Given the description of an element on the screen output the (x, y) to click on. 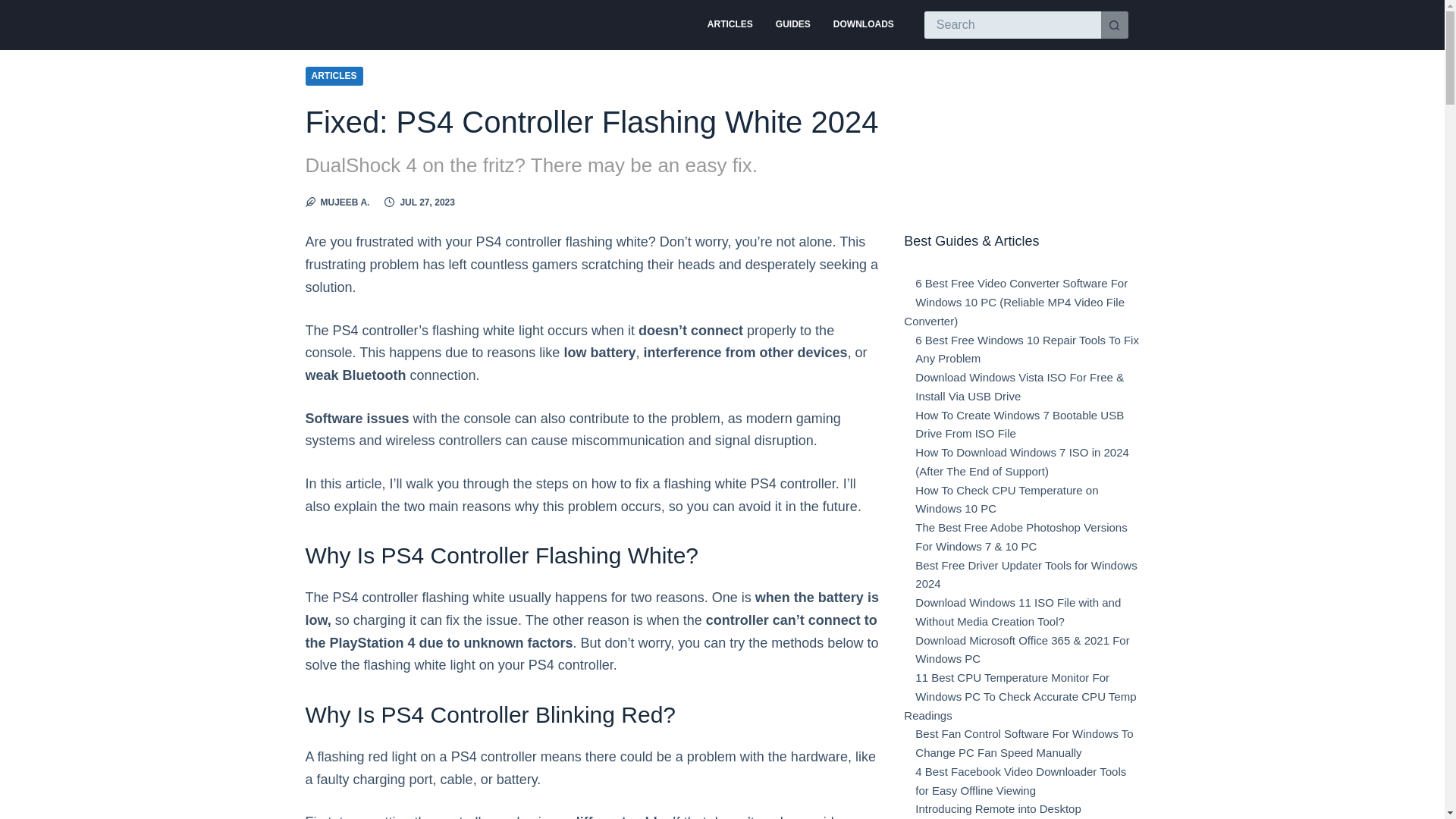
DOWNLOADS (863, 24)
How To Create Windows 7 Bootable USB Drive From ISO File (1019, 424)
How To Check CPU Temperature on Windows 10 PC (1006, 499)
ARTICLES (333, 75)
ARTICLES (729, 24)
6 Best Free Windows 10 Repair Tools To Fix Any Problem (1026, 349)
Skip to content (15, 7)
GUIDES (793, 24)
MUJEEB A. (344, 202)
Search for... (1012, 24)
